Given the description of an element on the screen output the (x, y) to click on. 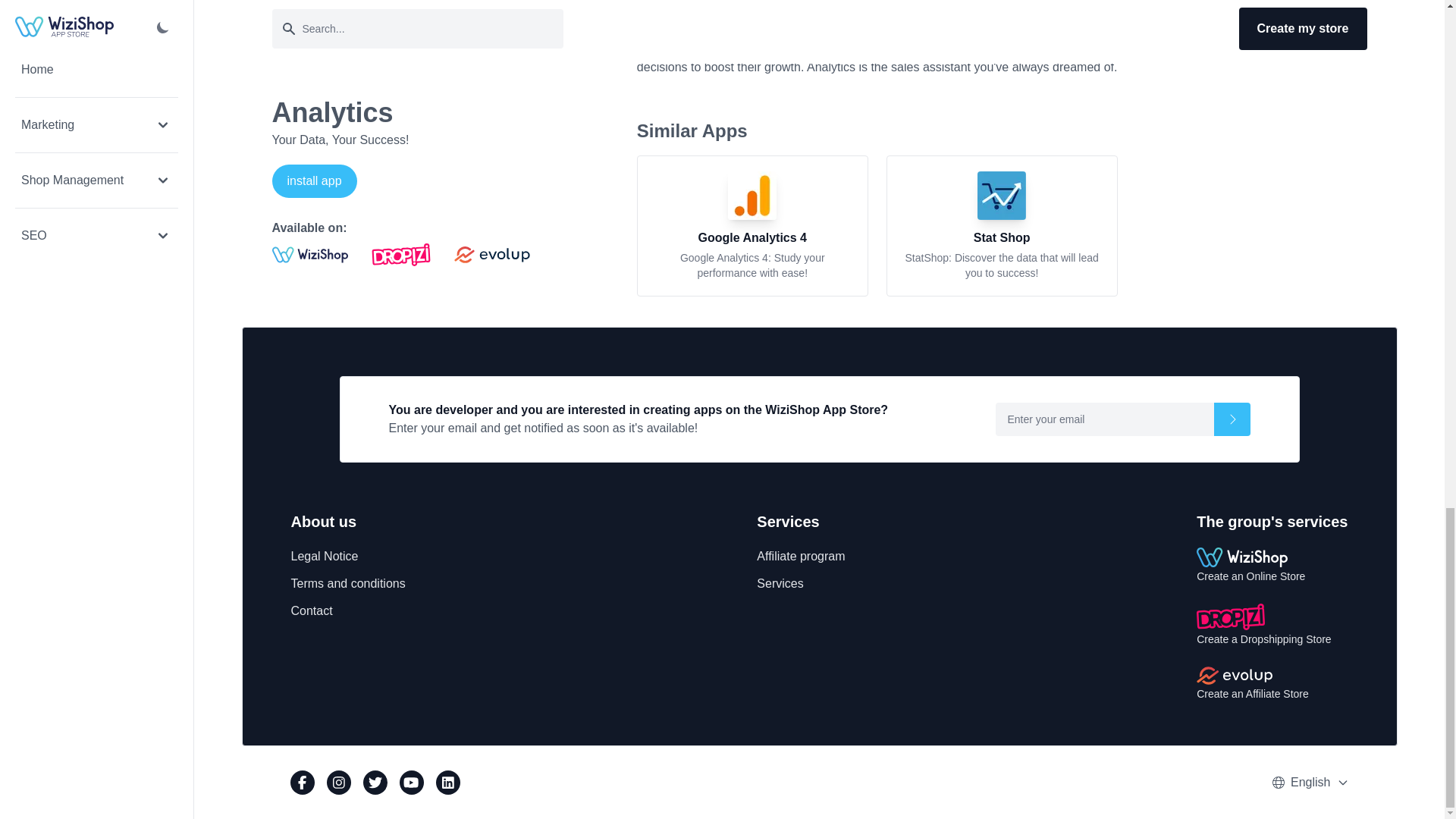
English (1319, 782)
wizishop facebook (301, 782)
dev-contact-apply (1230, 418)
wizishop linkdin (447, 782)
wizishop instagram (338, 782)
wizishop twitter (374, 782)
wizishop youtube (410, 782)
